Given the description of an element on the screen output the (x, y) to click on. 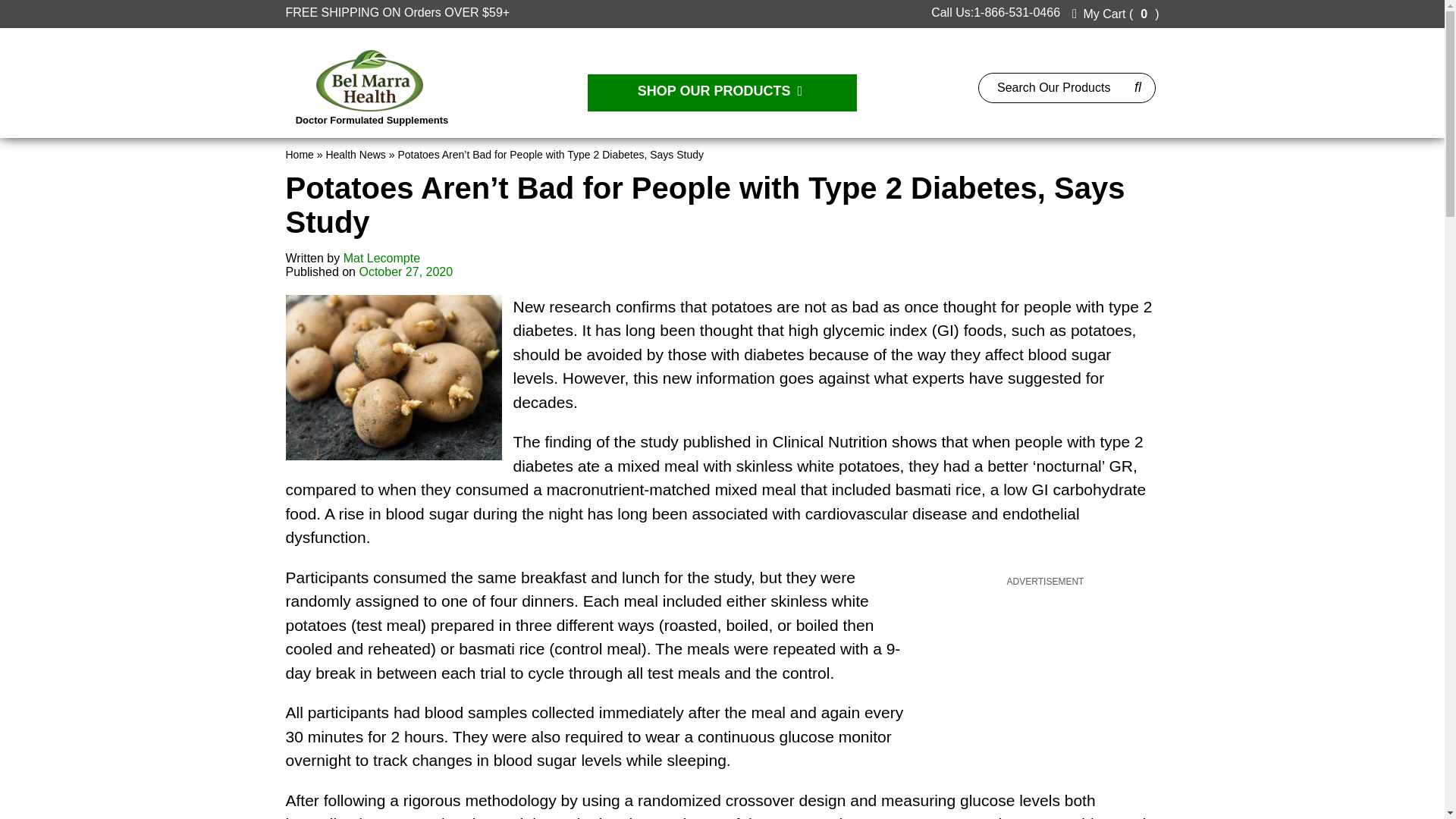
SHOP OUR PRODUCTS (721, 92)
Call Us:1-866-531-0466 (991, 11)
Skip to the content (50, 6)
Posts by Mat Lecompte (381, 257)
